Given the description of an element on the screen output the (x, y) to click on. 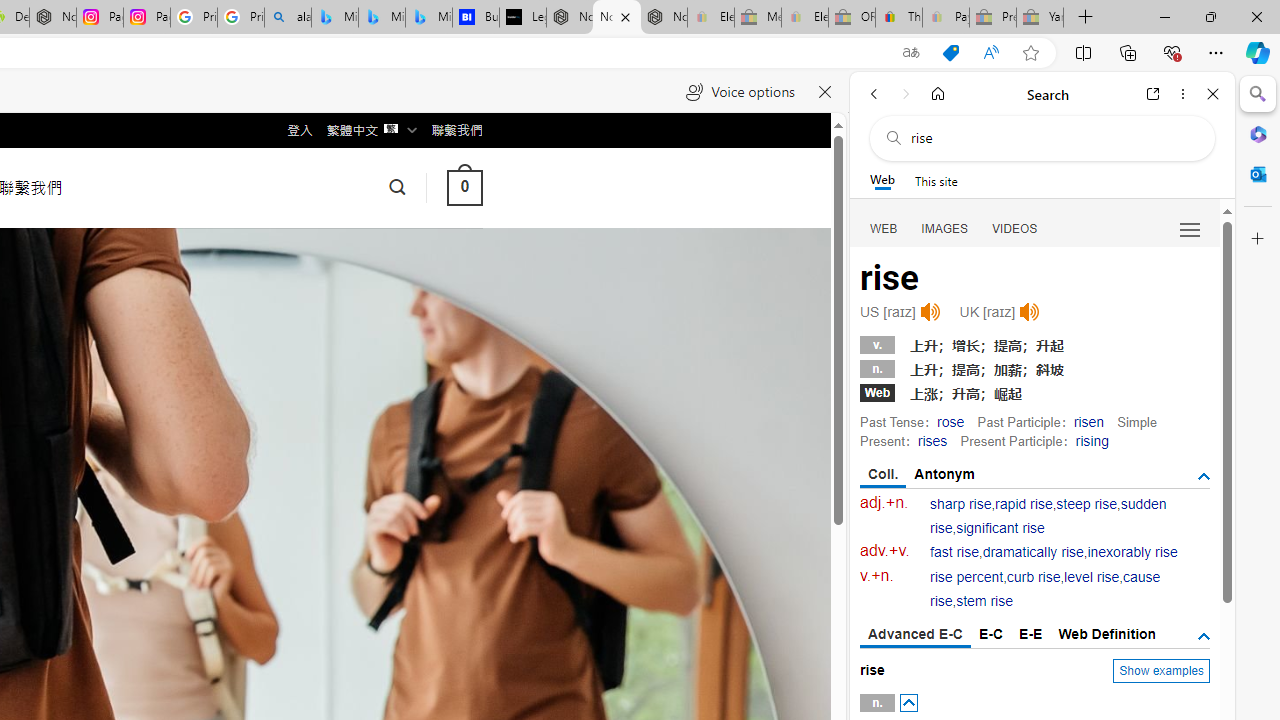
Microsoft Bing Travel - Shangri-La Hotel Bangkok (428, 17)
 0  (464, 187)
Threats and offensive language policy | eBay (898, 17)
E-C (991, 633)
AutomationID: posbtn_0 (908, 703)
AutomationID: tgdef (1203, 636)
Antonym (945, 473)
